Given the description of an element on the screen output the (x, y) to click on. 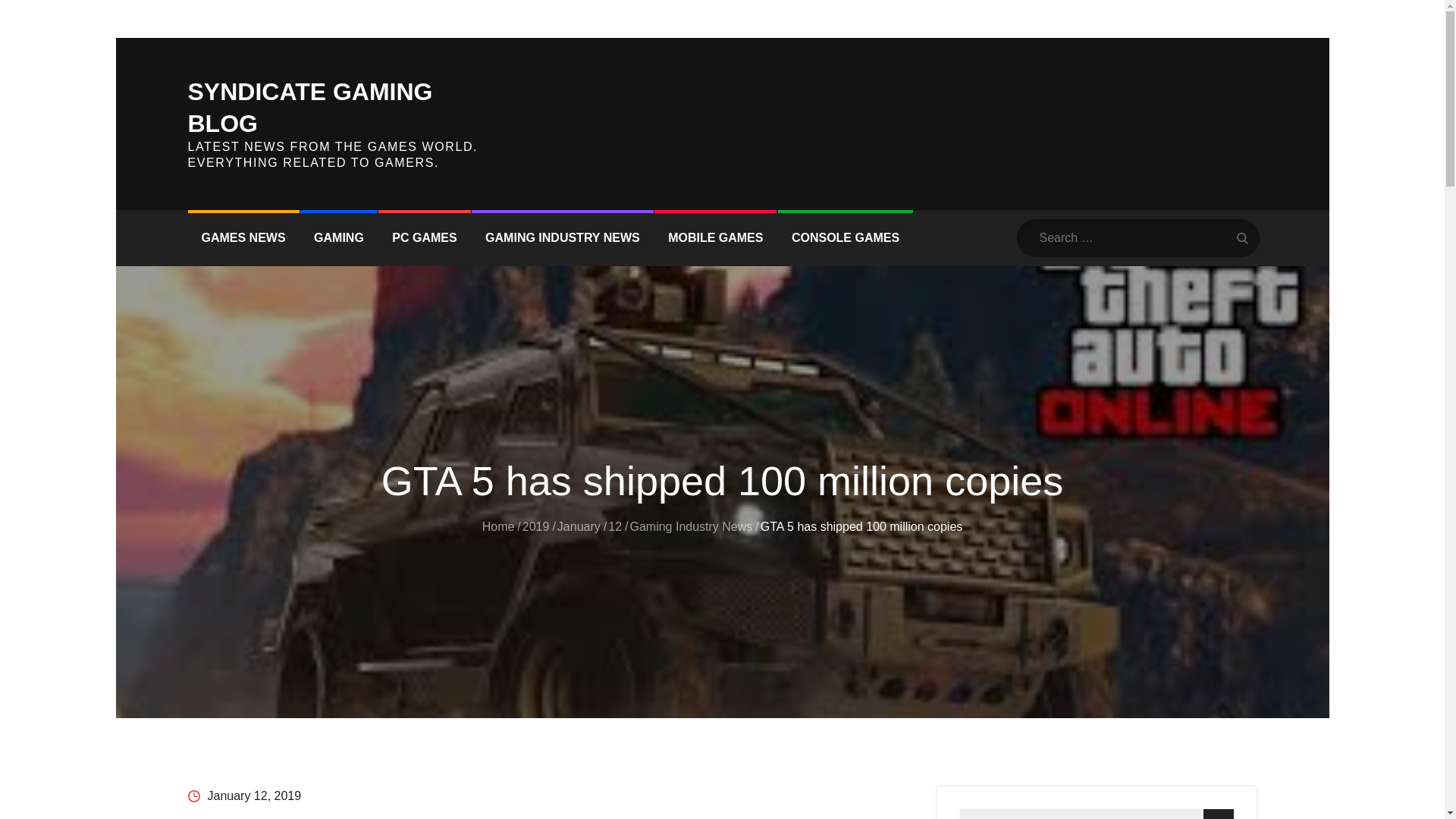
12 (248, 728)
January (212, 728)
12 (614, 526)
Gaming Industry News (324, 728)
CONSOLE GAMES (844, 237)
SYNDICATE GAMING BLOG (309, 107)
GAMING (338, 237)
January 12, 2019 (244, 795)
GAMING INDUSTRY NEWS (562, 237)
2019 (169, 728)
January (578, 526)
Gaming Industry News (690, 526)
PC GAMES (424, 237)
Home (498, 526)
